Given the description of an element on the screen output the (x, y) to click on. 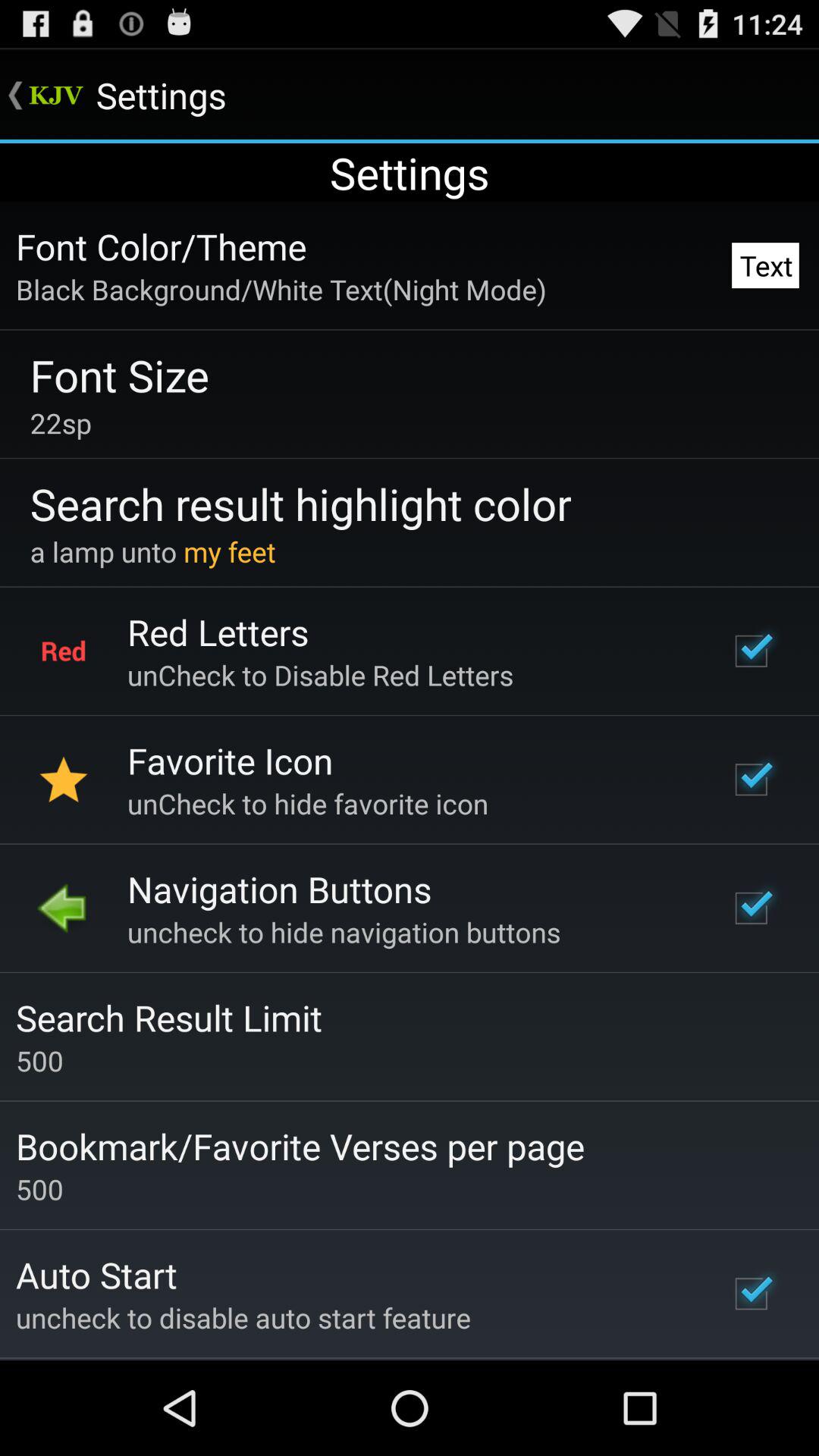
jump until the black background white item (280, 289)
